Given the description of an element on the screen output the (x, y) to click on. 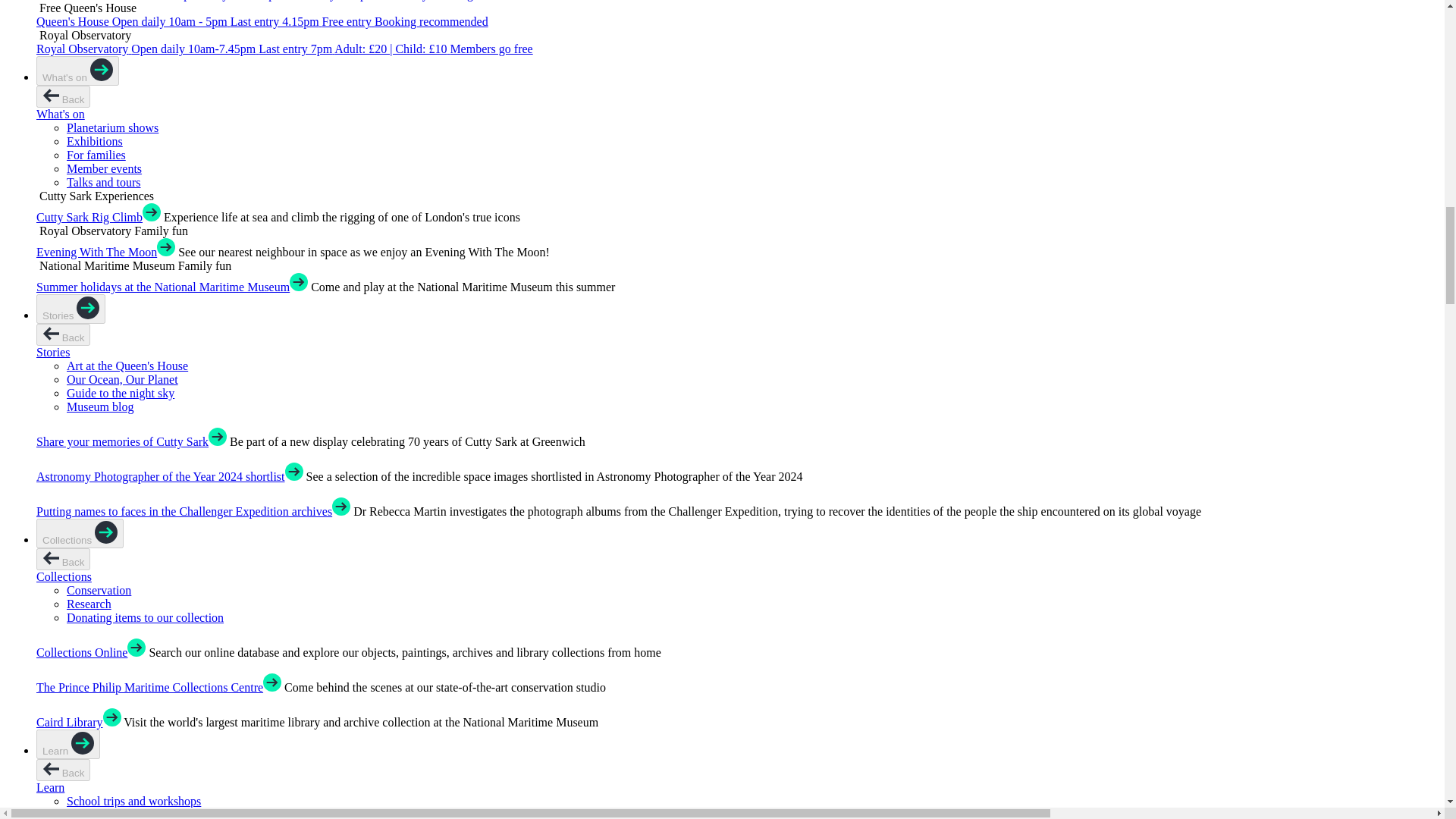
Talks and tours (103, 182)
What's on (77, 70)
Art at the Queen's House (126, 365)
Member events (103, 168)
Summer holidays at the National Maritime Museum (162, 286)
Stories (70, 308)
Evening With The Moon (96, 251)
Planetarium shows (112, 127)
Exhibitions (94, 141)
Our Ocean, Our Planet (121, 379)
Back (63, 334)
What's on (60, 113)
Cutty Sark Rig Climb (89, 216)
